Given the description of an element on the screen output the (x, y) to click on. 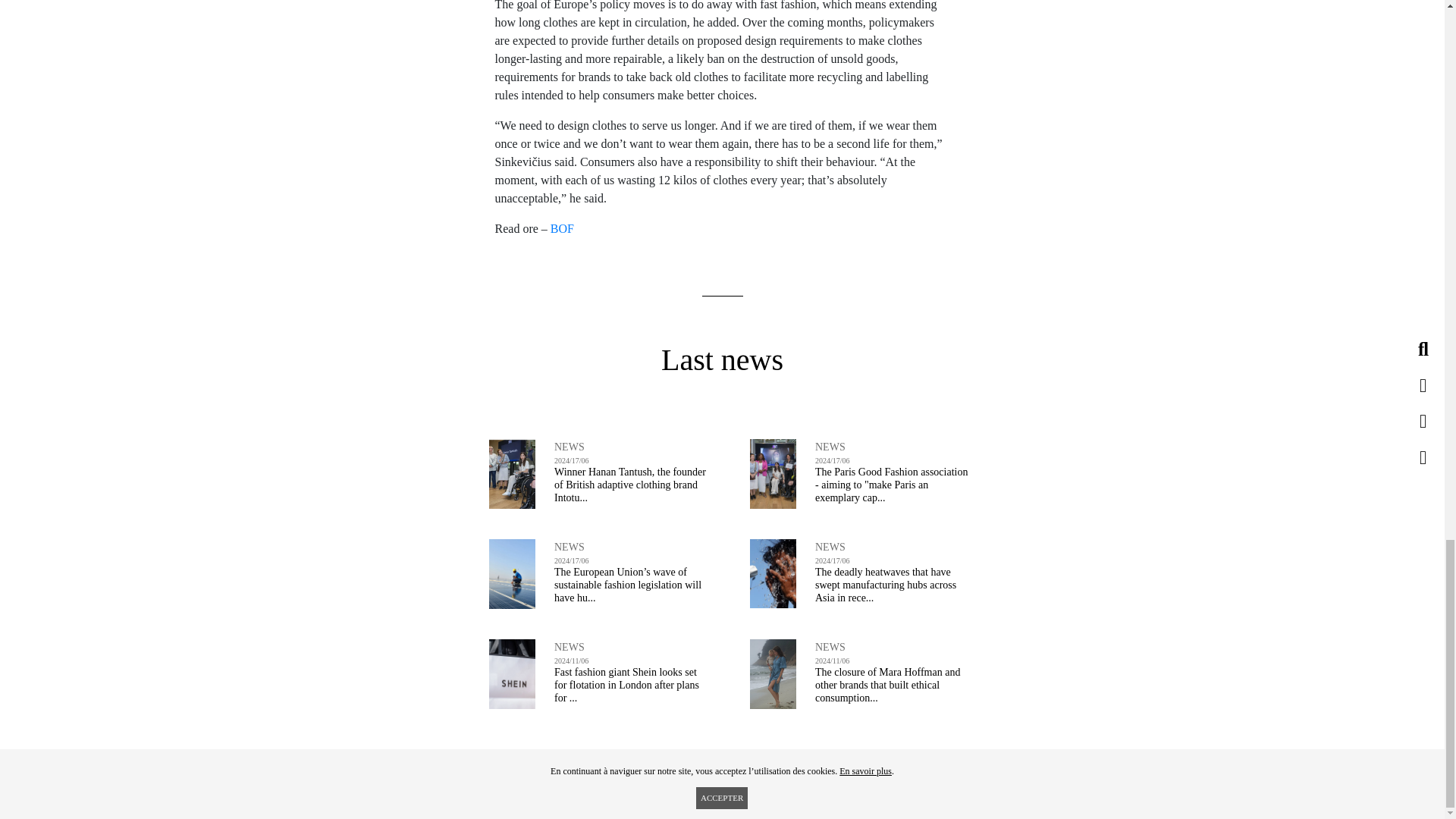
BOF (561, 227)
